Given the description of an element on the screen output the (x, y) to click on. 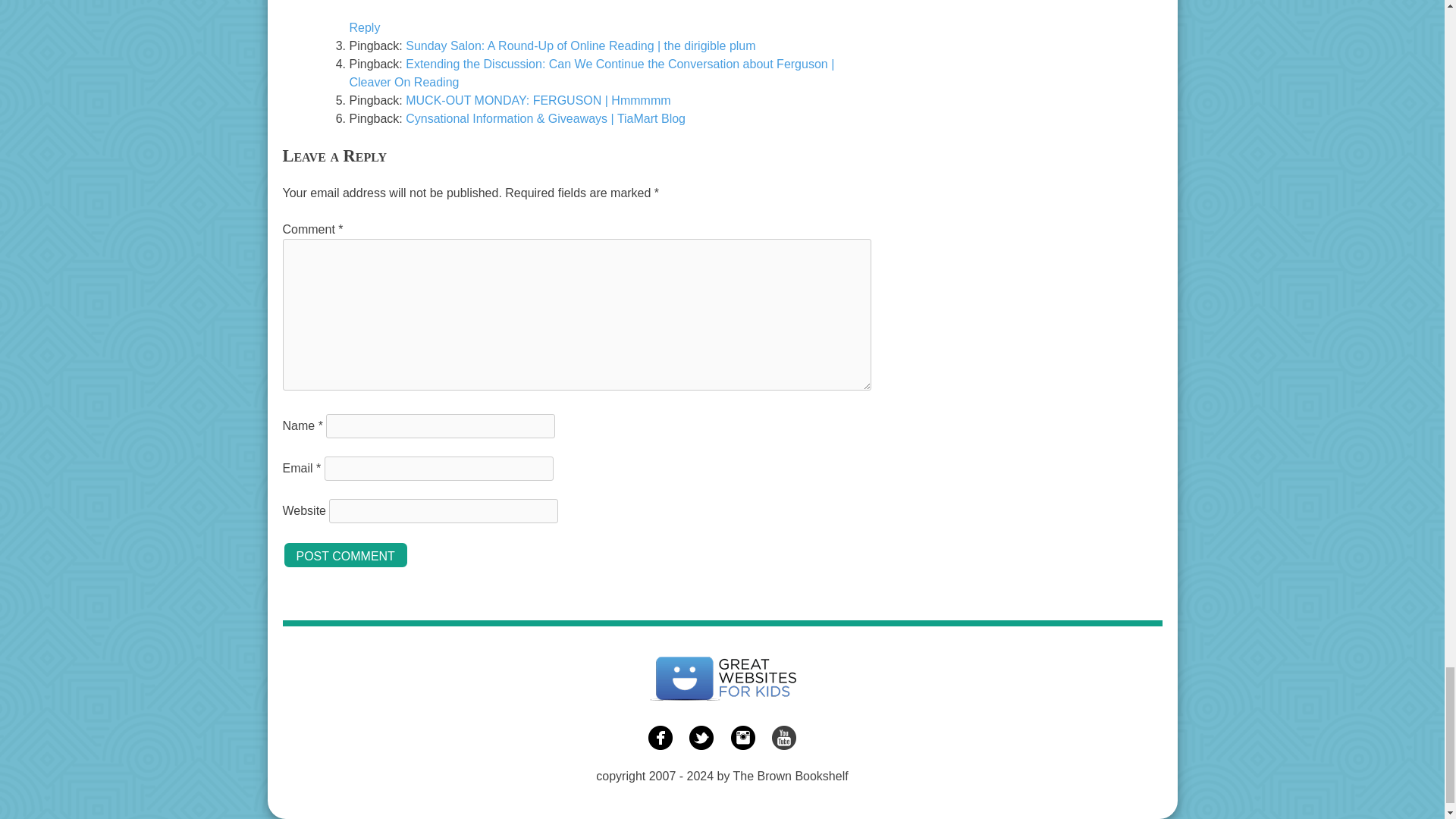
Post Comment (344, 554)
